Given the description of an element on the screen output the (x, y) to click on. 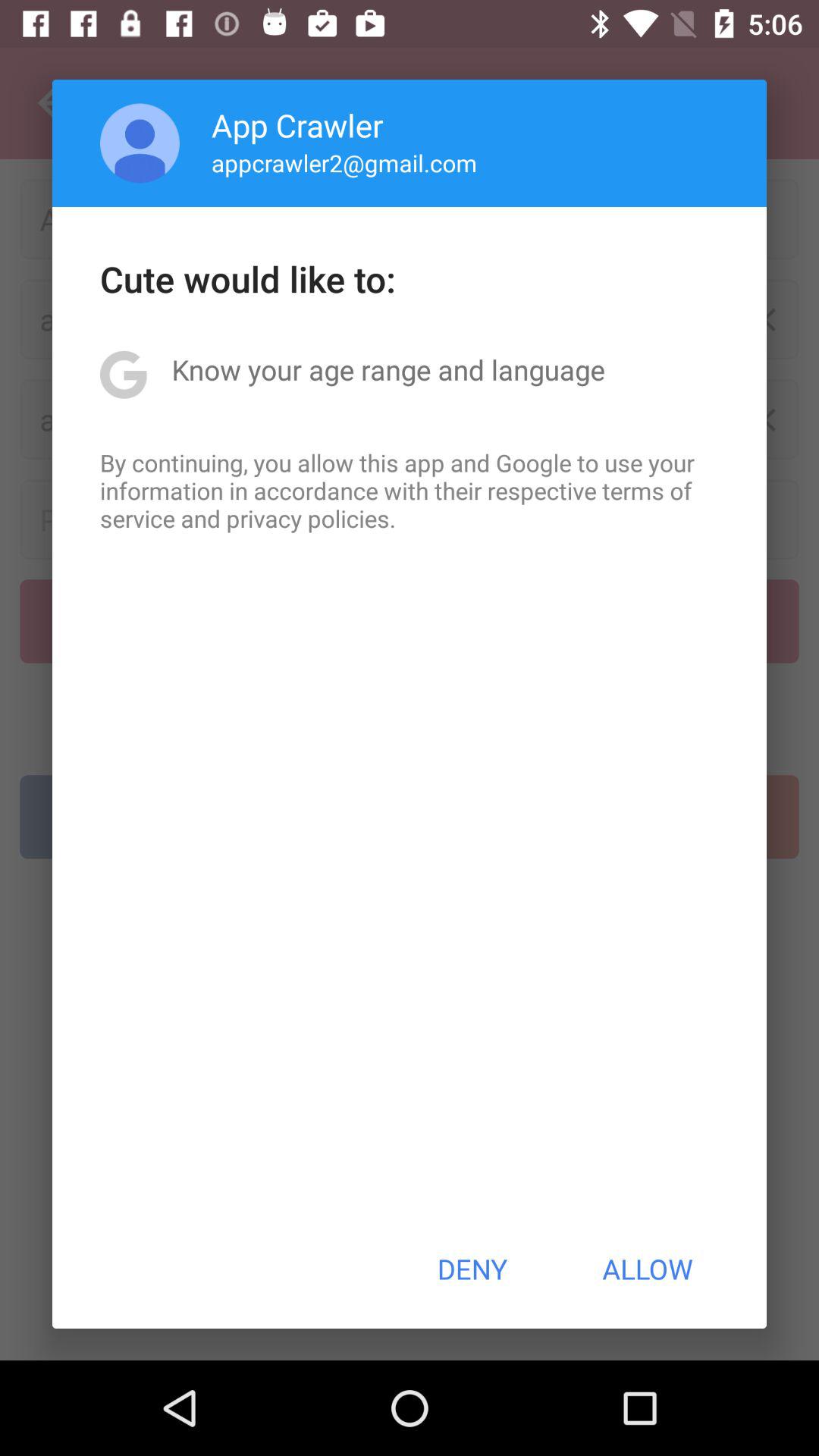
choose the button to the left of allow icon (471, 1268)
